Given the description of an element on the screen output the (x, y) to click on. 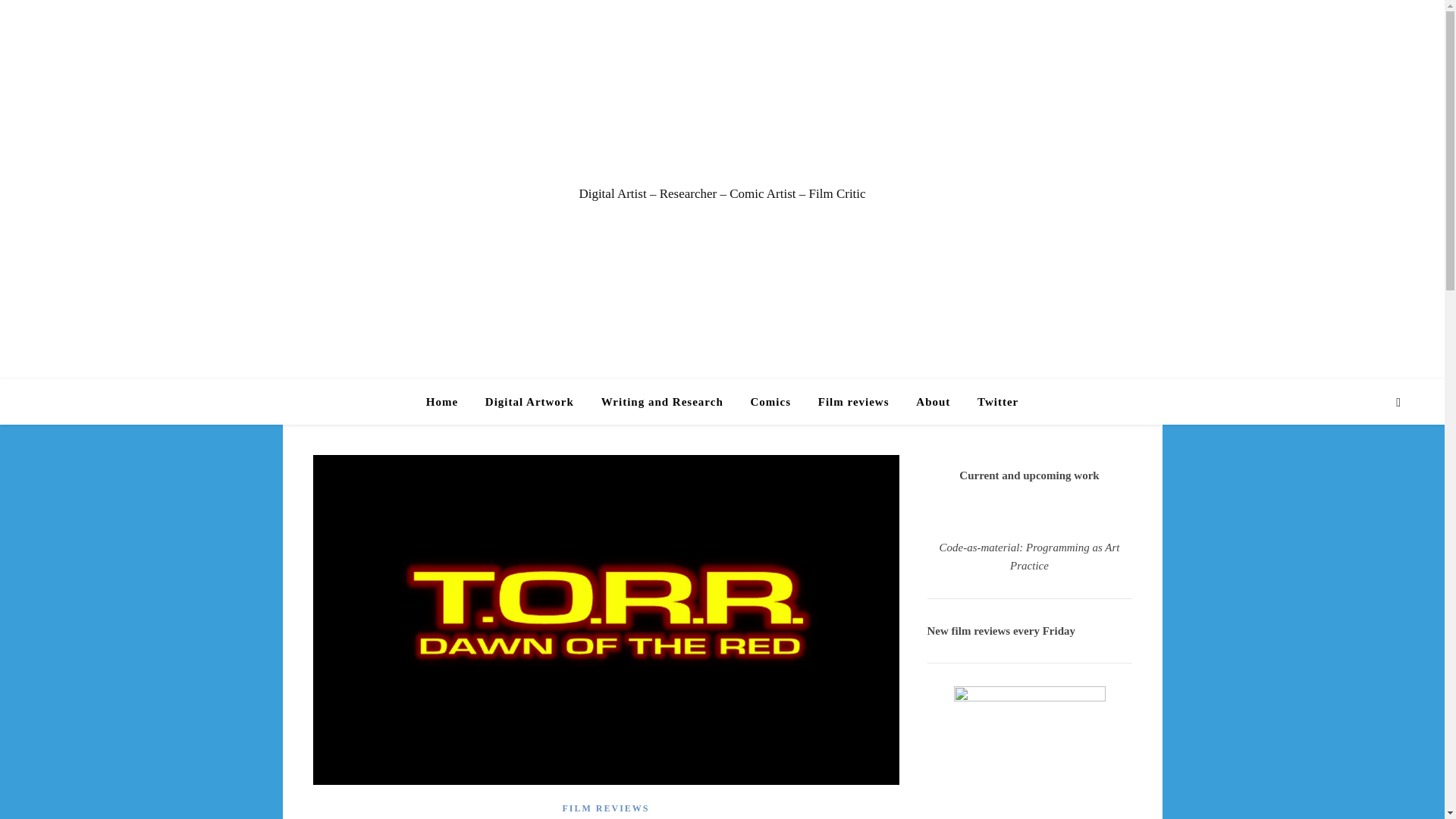
Digital Artwork (529, 402)
Home (448, 402)
About (933, 402)
FILM REVIEWS (605, 808)
Comics (770, 402)
Film reviews (853, 402)
Twitter (991, 402)
Writing and Research (662, 402)
